Given the description of an element on the screen output the (x, y) to click on. 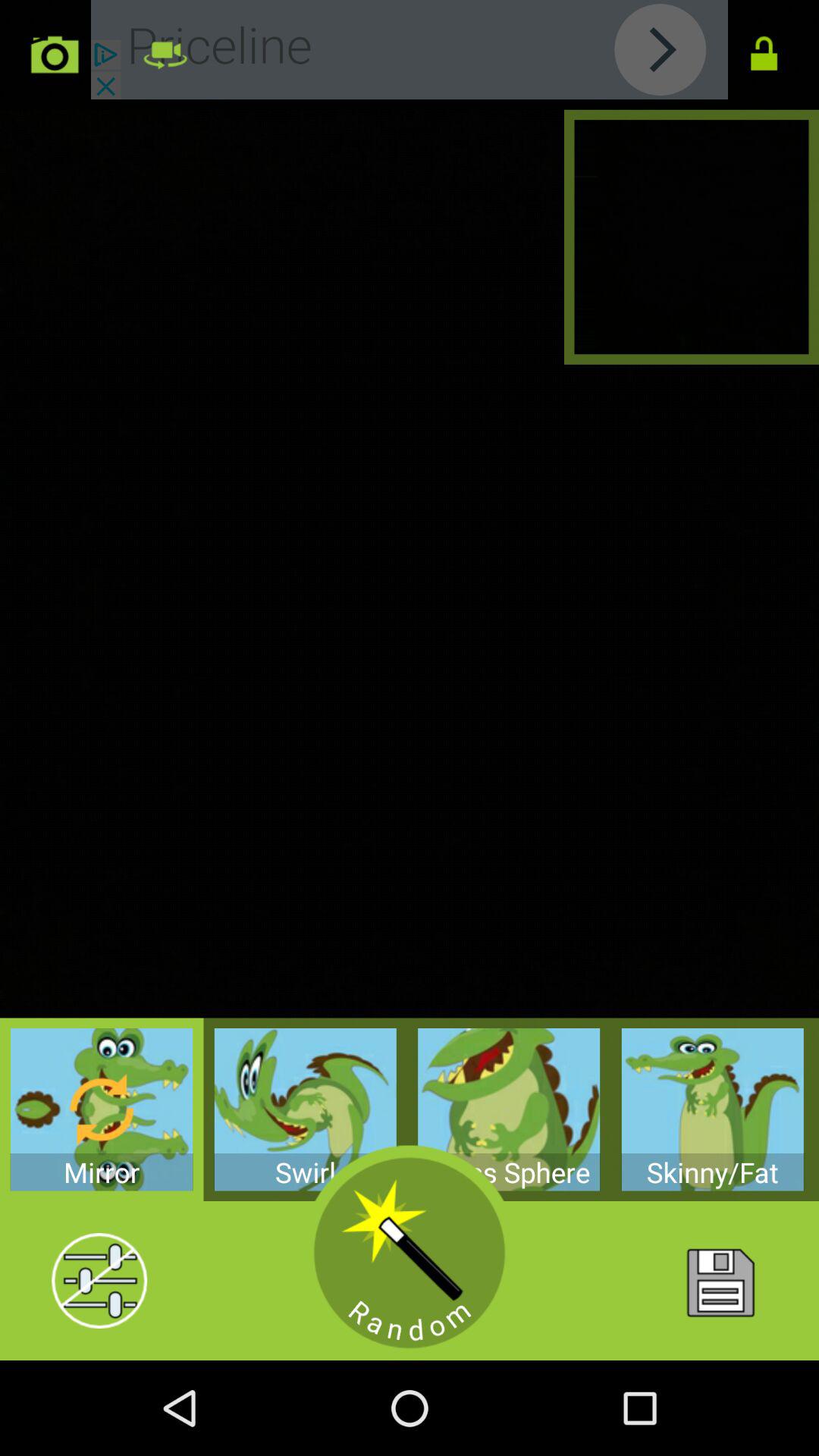
edit sliders (99, 1280)
